Given the description of an element on the screen output the (x, y) to click on. 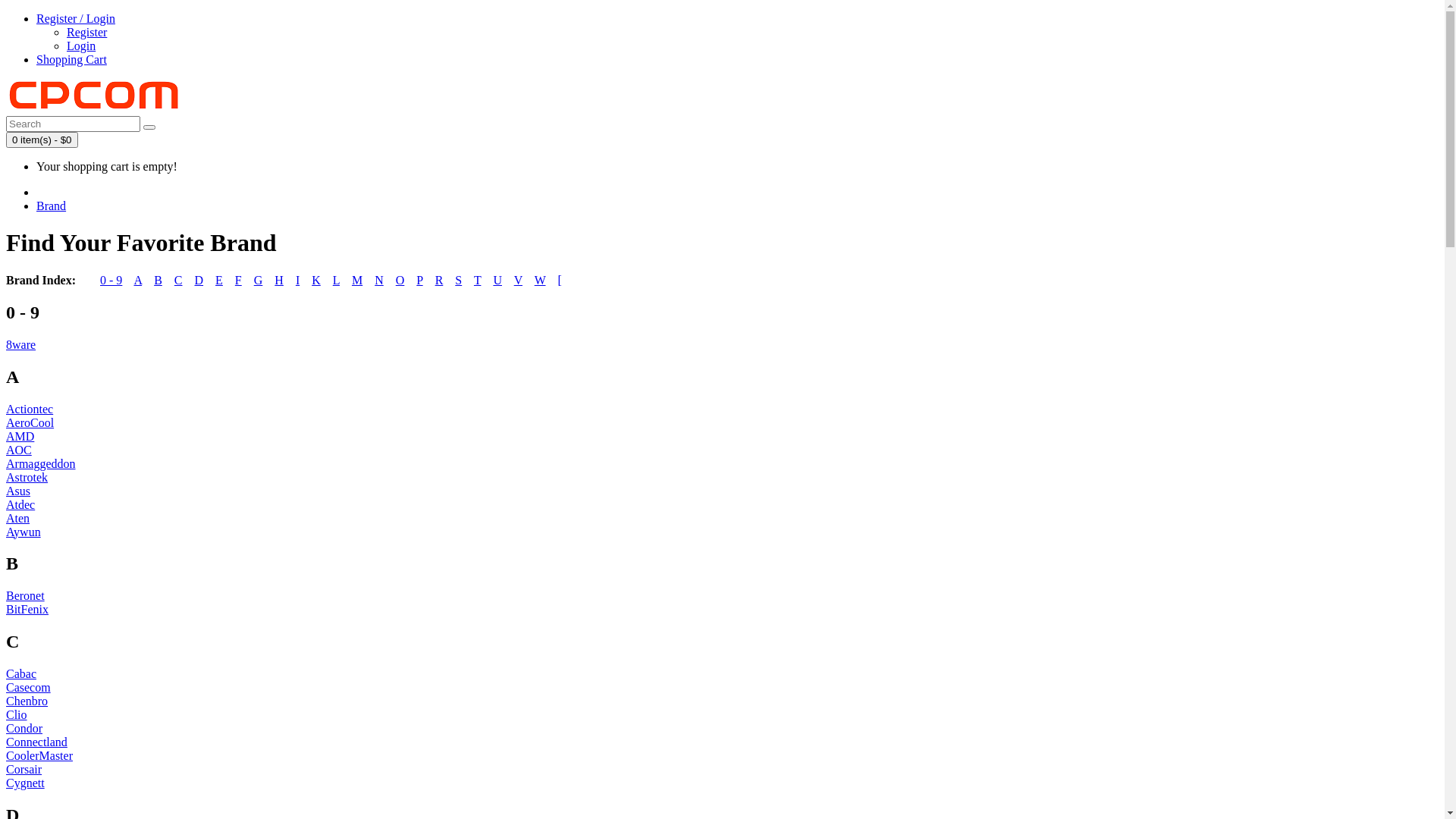
V Element type: text (518, 279)
G Element type: text (258, 279)
BitFenix Element type: text (27, 608)
Asus Element type: text (18, 489)
D Element type: text (198, 279)
Register / Login Element type: text (75, 18)
Shopping Cart Element type: text (71, 59)
L Element type: text (335, 279)
Cygnett Element type: text (25, 782)
CoolerMaster Element type: text (39, 755)
T Element type: text (476, 279)
W Element type: text (540, 279)
Login Element type: text (80, 45)
Register Element type: text (86, 31)
O Element type: text (399, 279)
S Element type: text (458, 279)
P Element type: text (419, 279)
Astrotek Element type: text (26, 476)
Brand Element type: text (50, 205)
U Element type: text (497, 279)
Connectland Element type: text (36, 741)
F Element type: text (238, 279)
CPCOM Element type: hover (94, 95)
Armaggeddon Element type: text (40, 462)
B Element type: text (157, 279)
E Element type: text (218, 279)
R Element type: text (439, 279)
AMD Element type: text (20, 435)
M Element type: text (356, 279)
Casecom Element type: text (28, 686)
AeroCool Element type: text (29, 421)
AOC Element type: text (18, 448)
H Element type: text (278, 279)
N Element type: text (378, 279)
Corsair Element type: text (23, 768)
Atdec Element type: text (20, 503)
[ Element type: text (559, 279)
Aten Element type: text (17, 517)
0 - 9 Element type: text (111, 279)
Cabac Element type: text (21, 673)
Aywun Element type: text (23, 530)
C Element type: text (178, 279)
I Element type: text (297, 279)
Clio Element type: text (16, 714)
K Element type: text (315, 279)
Condor Element type: text (24, 727)
A Element type: text (137, 279)
Chenbro Element type: text (26, 700)
0 item(s) - $0 Element type: text (42, 139)
Actiontec Element type: text (29, 407)
8ware Element type: text (20, 344)
Beronet Element type: text (25, 595)
